Given the description of an element on the screen output the (x, y) to click on. 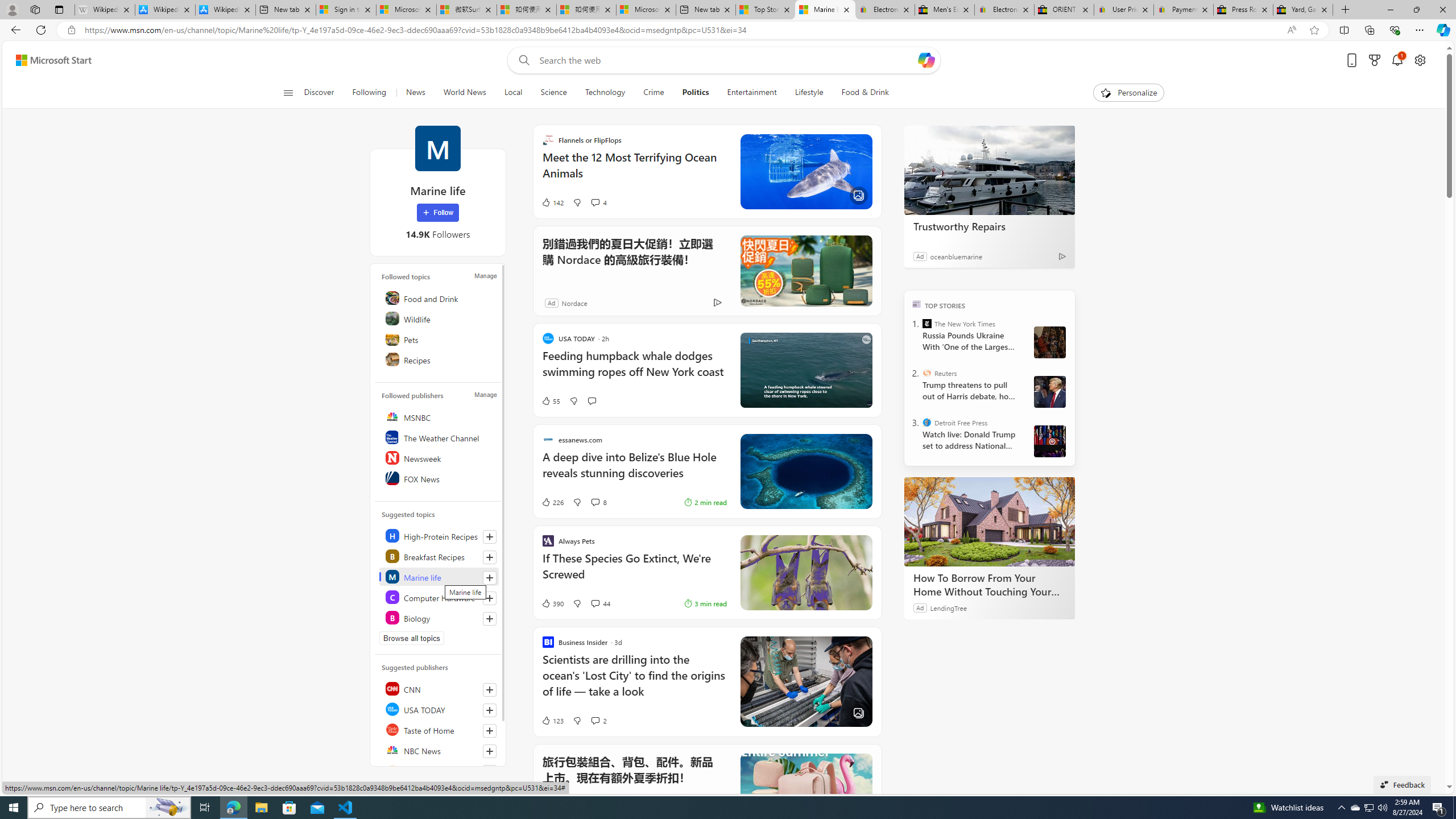
226 Like (551, 502)
Follow this source (489, 751)
123 Like (551, 720)
142 Like (551, 202)
Class: hero-image (805, 369)
